Given the description of an element on the screen output the (x, y) to click on. 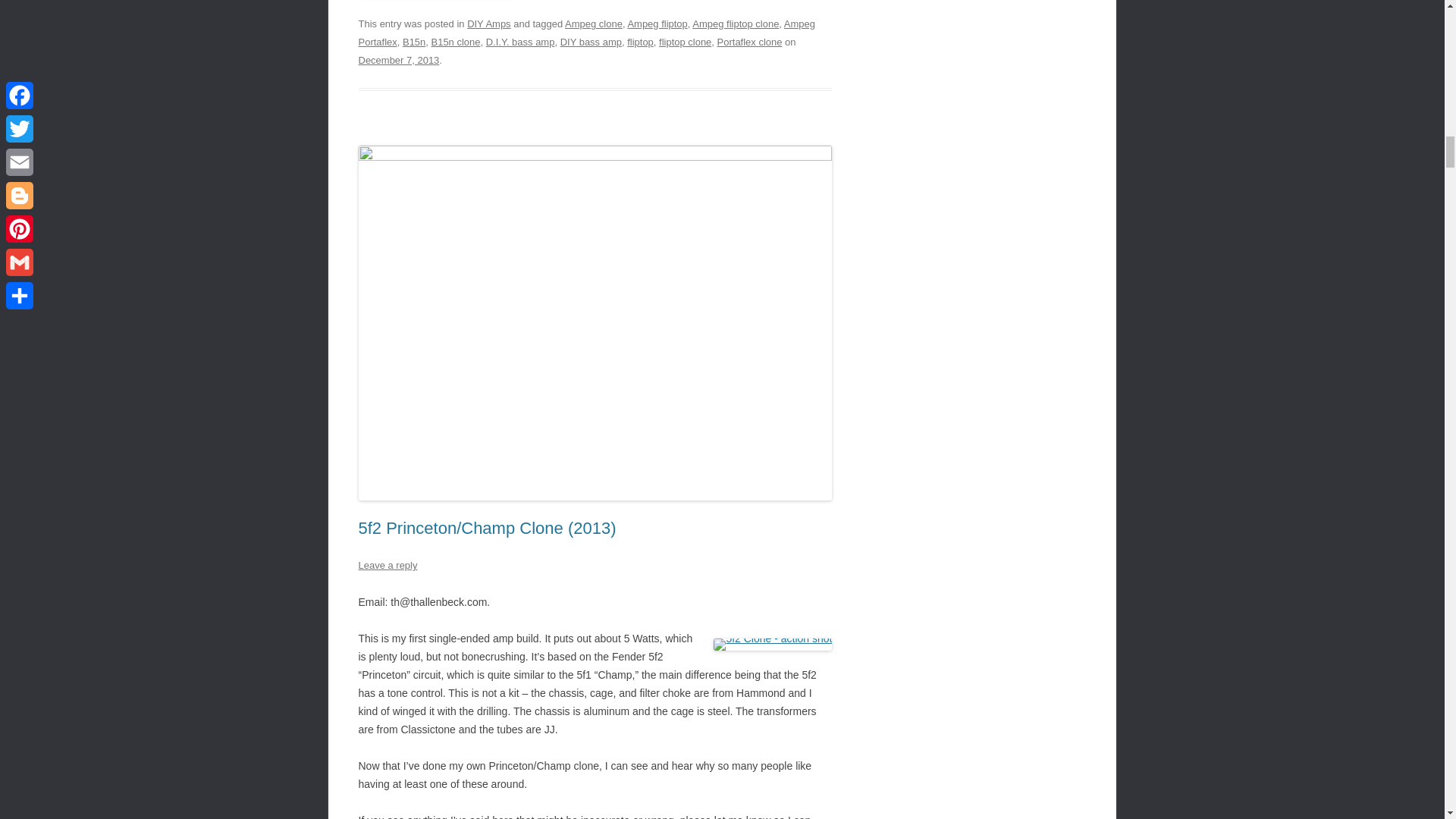
Leave a reply (387, 564)
Ampeg clone (593, 23)
2:09 pm (398, 60)
fliptop clone (685, 41)
B15n clone (455, 41)
Ampeg Portaflex (586, 32)
fliptop (640, 41)
DIY bass amp (590, 41)
Portaflex clone (750, 41)
B15n (414, 41)
December 7, 2013 (398, 60)
Ampeg fliptop clone (735, 23)
DIY Amps (489, 23)
D.I.Y. bass amp (520, 41)
Ampeg fliptop (657, 23)
